Given the description of an element on the screen output the (x, y) to click on. 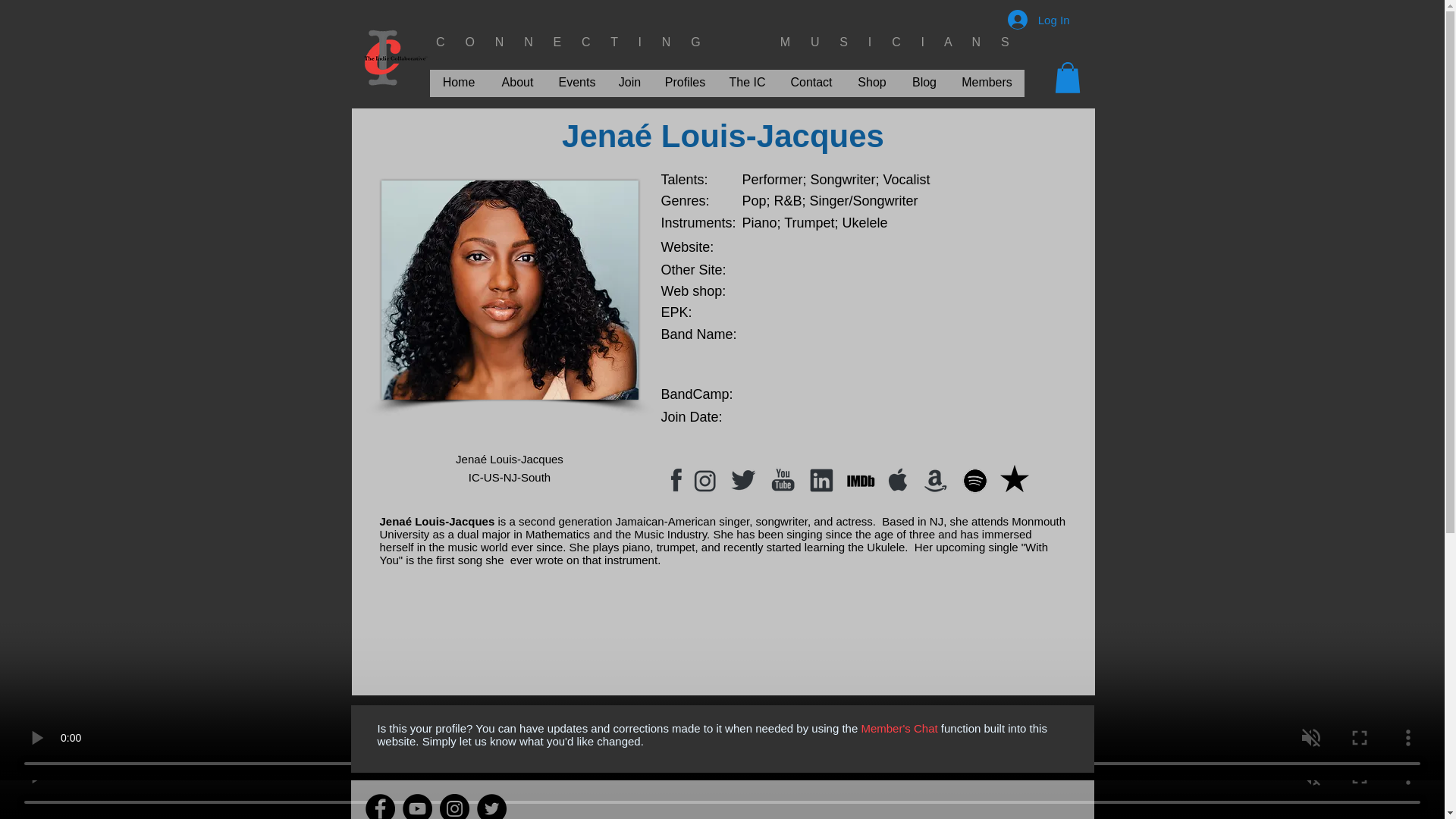
Join (630, 82)
Home (458, 82)
About (517, 82)
Profiles (685, 82)
The IC (747, 82)
Blog (924, 82)
Members (986, 82)
Shop (871, 82)
Contact (811, 82)
Events (577, 82)
